Given the description of an element on the screen output the (x, y) to click on. 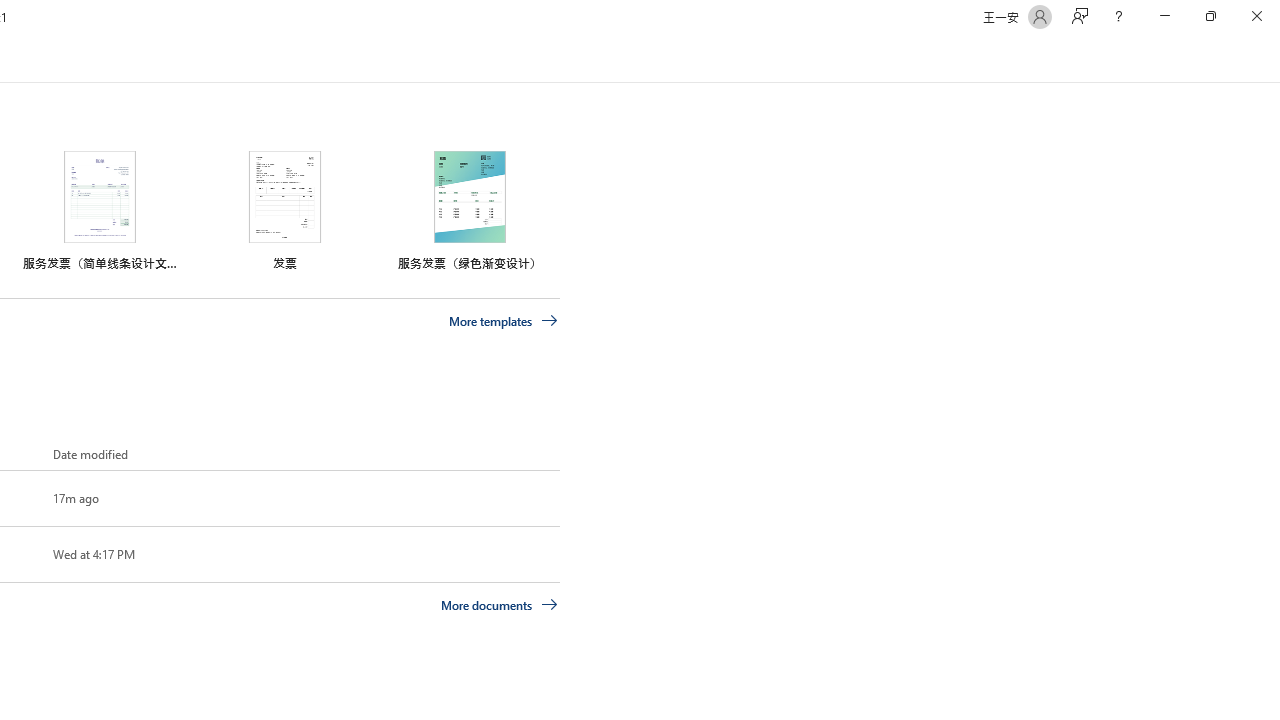
More documents (499, 604)
Pin this item to the list (20, 553)
More templates (503, 321)
